Given the description of an element on the screen output the (x, y) to click on. 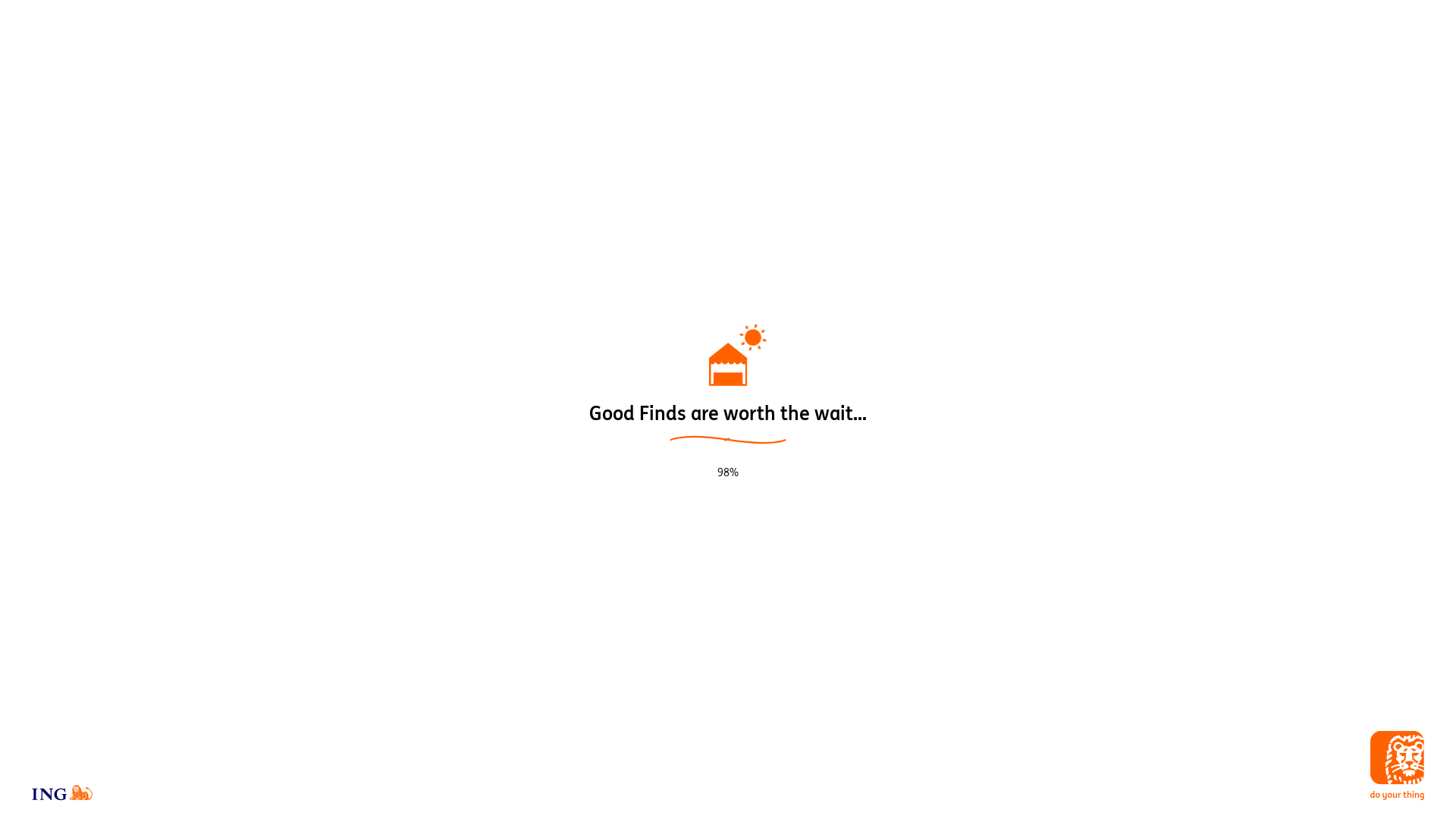
Privacy policy Element type: text (599, 791)
Contact us Element type: text (861, 791)
Terms and conditions Element type: text (687, 791)
Returns & delivery Element type: text (786, 791)
